Given the description of an element on the screen output the (x, y) to click on. 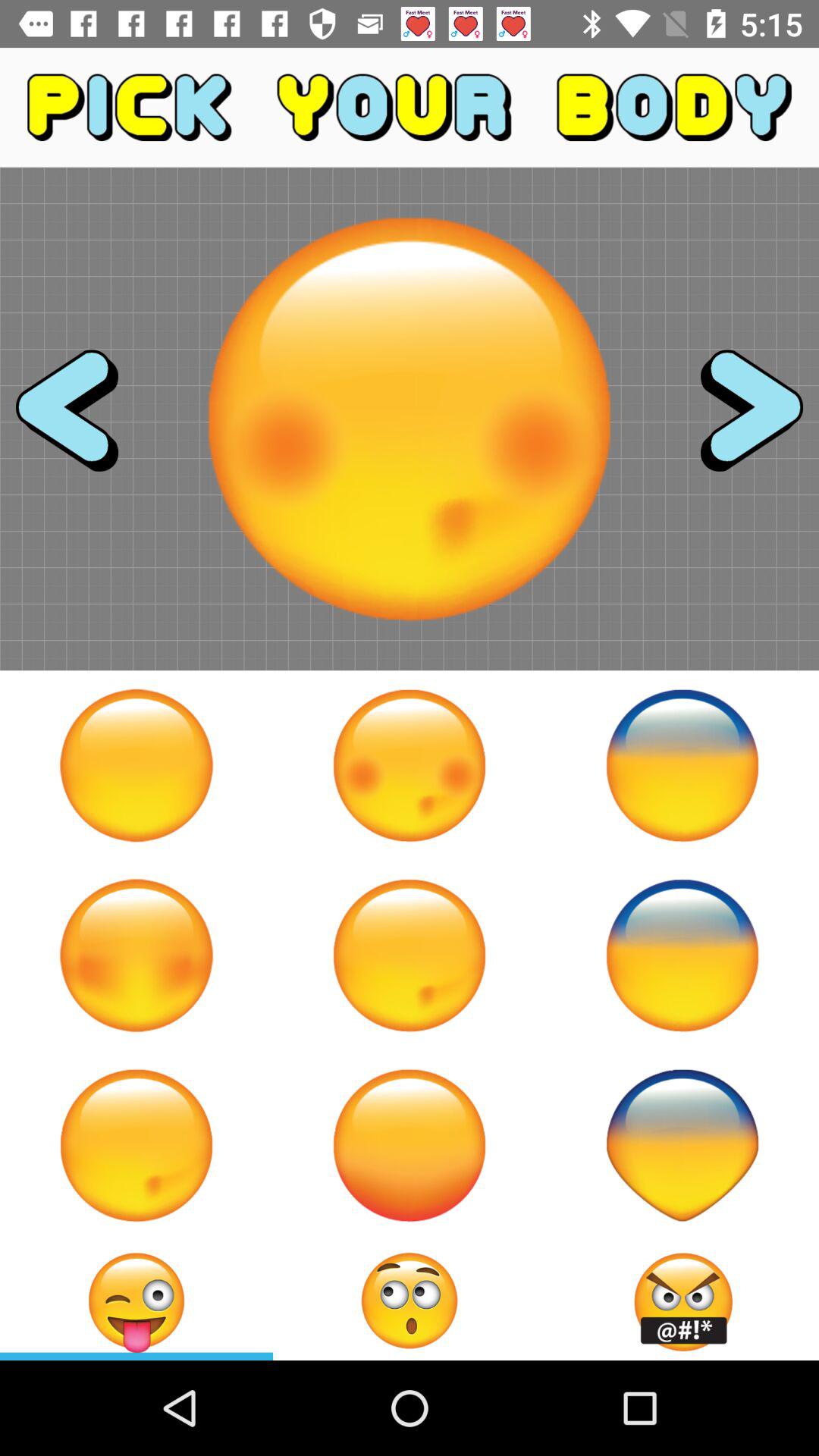
emoji button (409, 955)
